Given the description of an element on the screen output the (x, y) to click on. 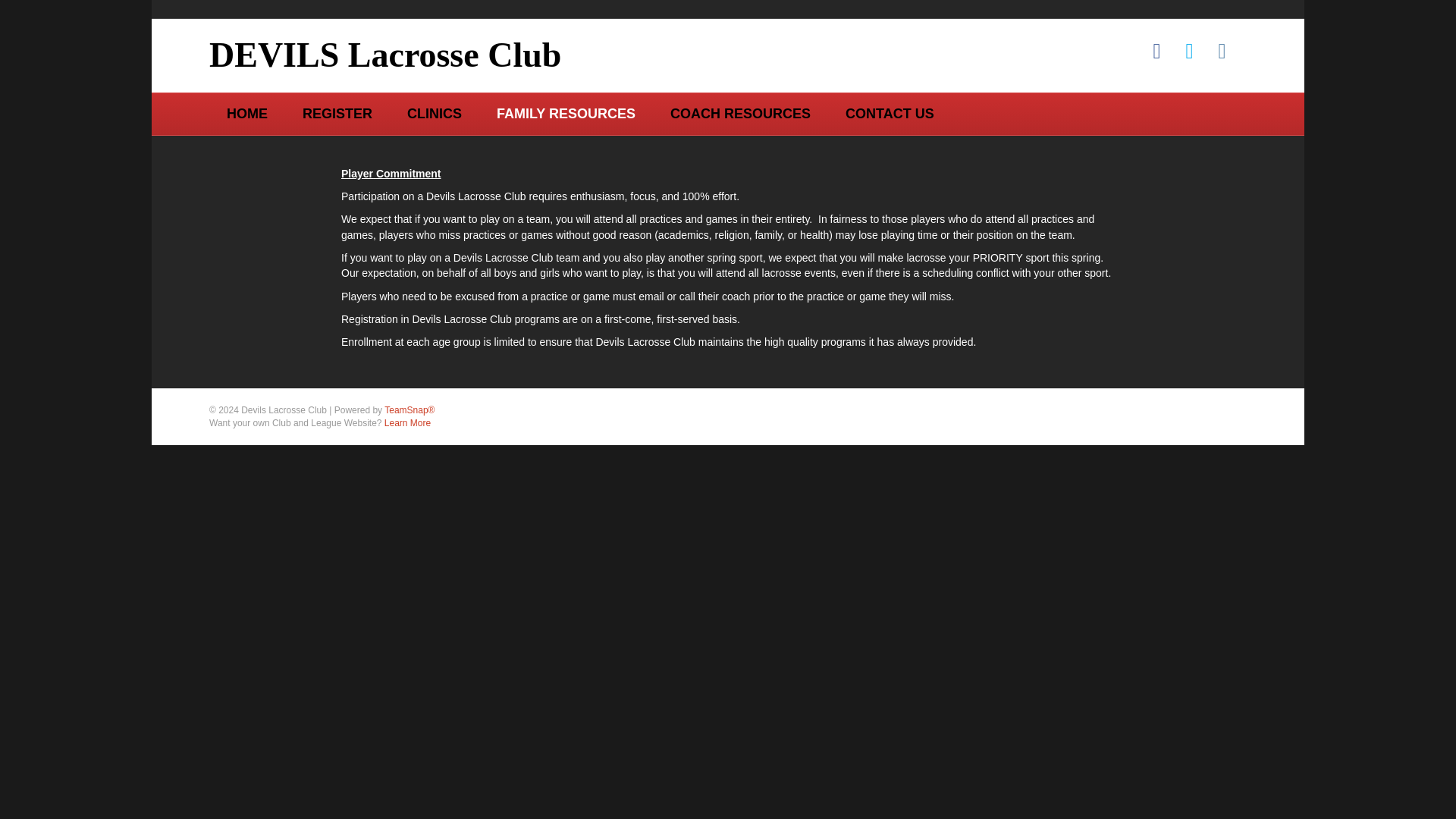
FAMILY RESOURCES (565, 114)
Powered by TeamSnap (408, 409)
HOME (247, 114)
Instagram (1221, 51)
Facebook (1156, 51)
Twitter (1189, 51)
CONTACT US (890, 114)
DEVILS Lacrosse Club (456, 55)
CLINICS (434, 114)
REGISTER (337, 114)
